Given the description of an element on the screen output the (x, y) to click on. 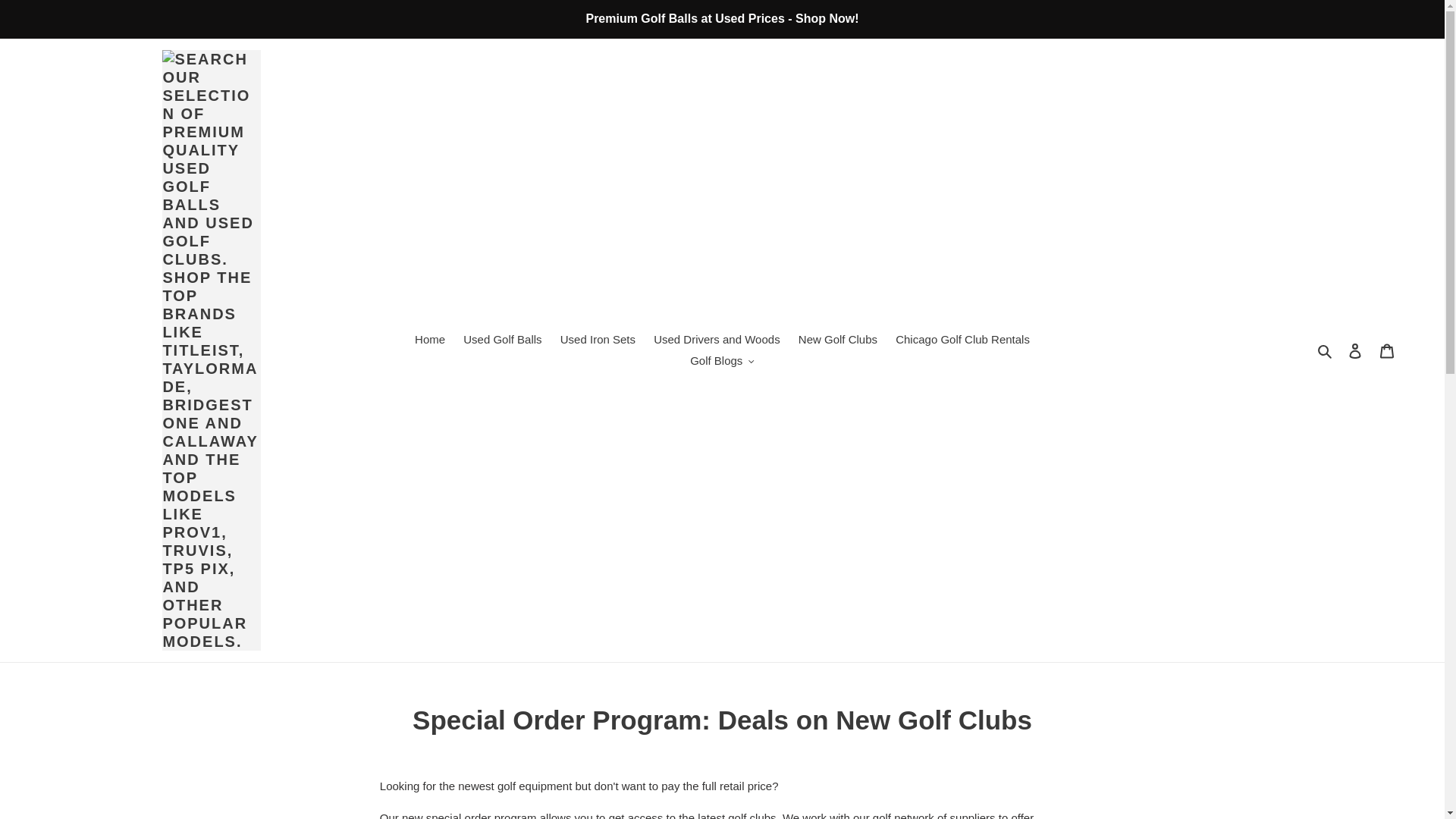
Used Drivers and Woods (716, 340)
Golf Blogs (721, 361)
New Golf Clubs (837, 340)
Log in (1355, 350)
Used Iron Sets (598, 340)
Chicago Golf Club Rentals (962, 340)
Home (429, 340)
Search (1326, 350)
Used Golf Balls (501, 340)
Premium Golf Balls at Used Prices - Shop Now! (721, 18)
